Given the description of an element on the screen output the (x, y) to click on. 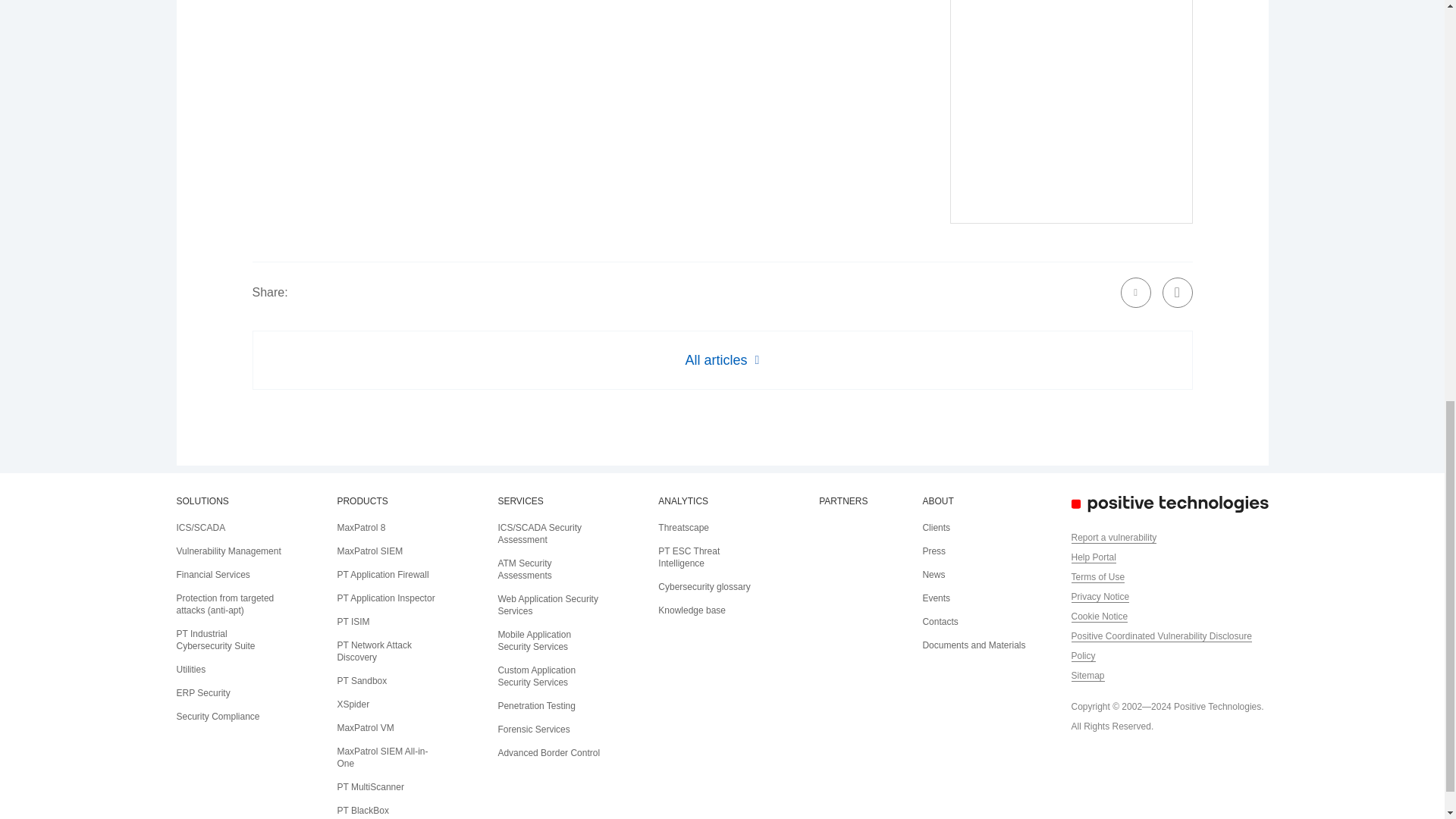
PT Network Attack Discovery (373, 650)
PT BlackBox (362, 810)
Custom Application Security Services (536, 676)
Utilities (190, 669)
MaxPatrol 8 (360, 527)
SOLUTIONS (202, 501)
Mobile Application Security Services (533, 640)
PT Application Inspector (384, 597)
Financial Services (212, 574)
PT ISIM (352, 621)
Web Application Security Services (547, 604)
PT Sandbox (361, 680)
Email (1136, 292)
MaxPatrol VM (364, 727)
Penetration Testing (536, 706)
